Given the description of an element on the screen output the (x, y) to click on. 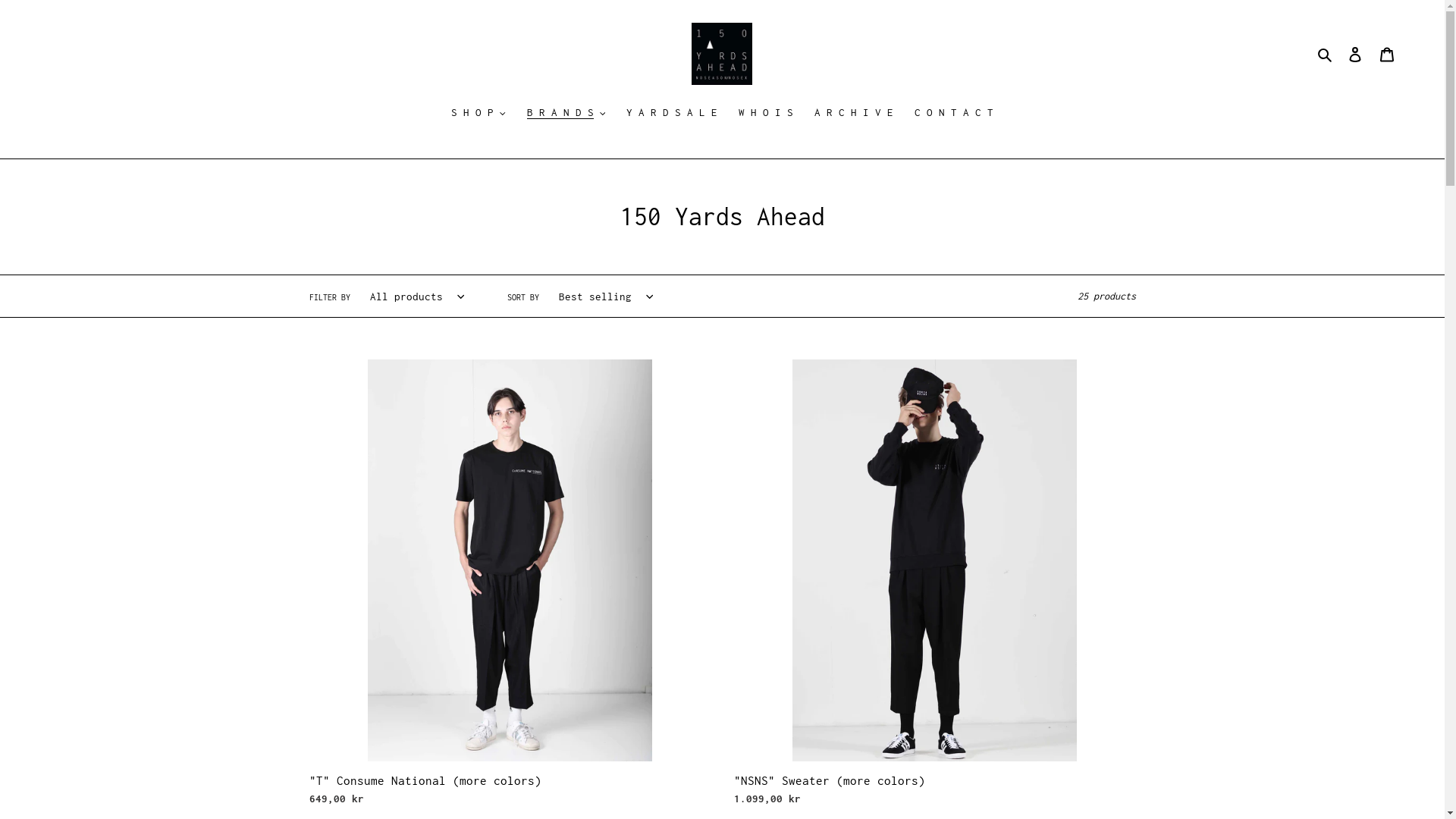
A R C H I V E Element type: text (853, 113)
Cart Element type: text (1386, 53)
"NSNS" Sweater (more colors) Element type: text (934, 585)
W H O I S Element type: text (765, 113)
"T" Consume National (more colors) Element type: text (510, 585)
S H O P Element type: text (478, 113)
Search Element type: text (1325, 53)
C O N T A C T Element type: text (953, 113)
B R A N D S Element type: text (565, 113)
Y A R D S A L E Element type: text (671, 113)
Log in Element type: text (1355, 53)
